Given the description of an element on the screen output the (x, y) to click on. 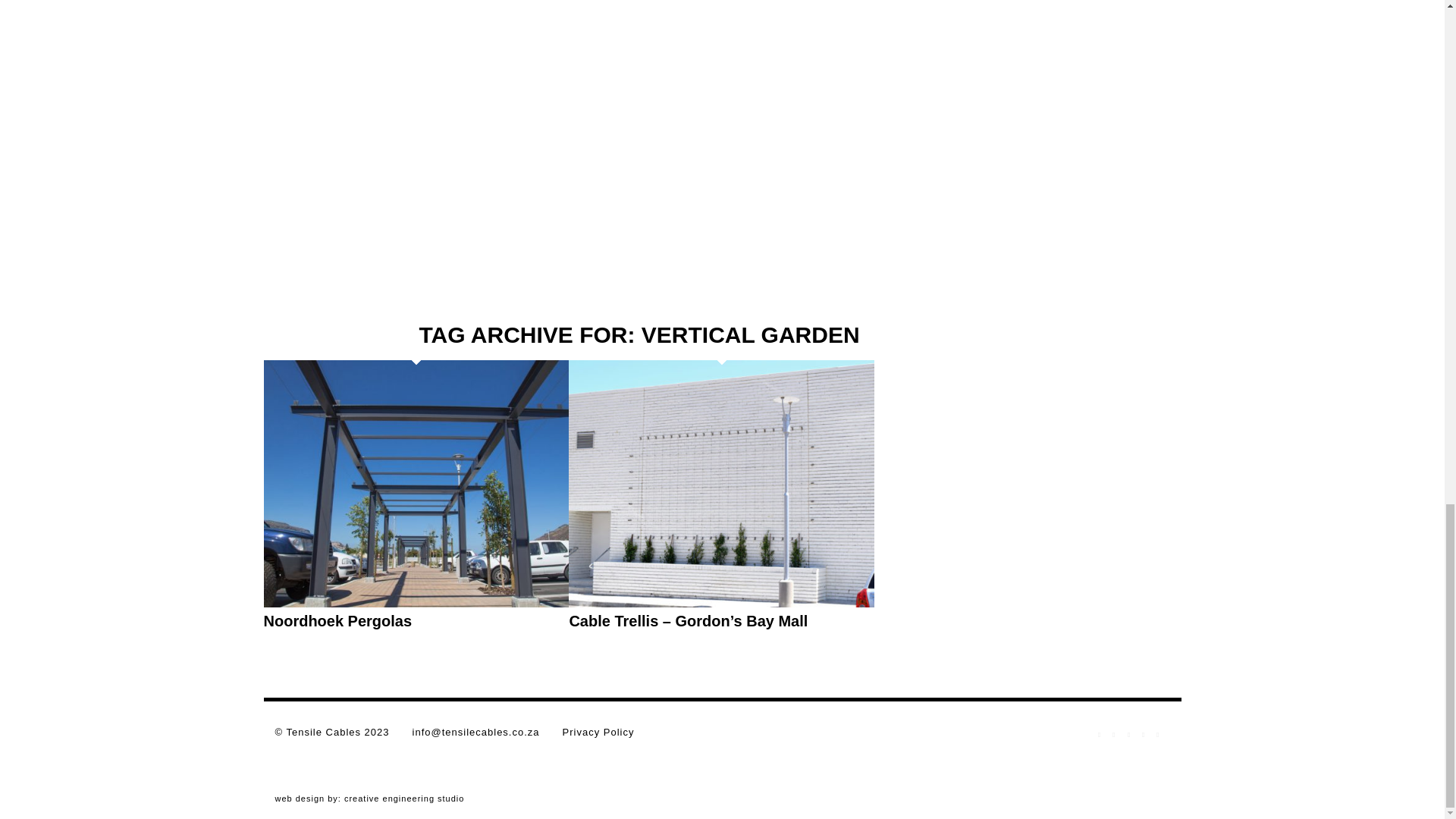
Noordhoek Pergolas (416, 603)
web design by: creative engineering studio (369, 798)
Noordhoek Pergolas (337, 620)
Privacy Policy (598, 731)
Noordhoek Pergolas (337, 620)
